Given the description of an element on the screen output the (x, y) to click on. 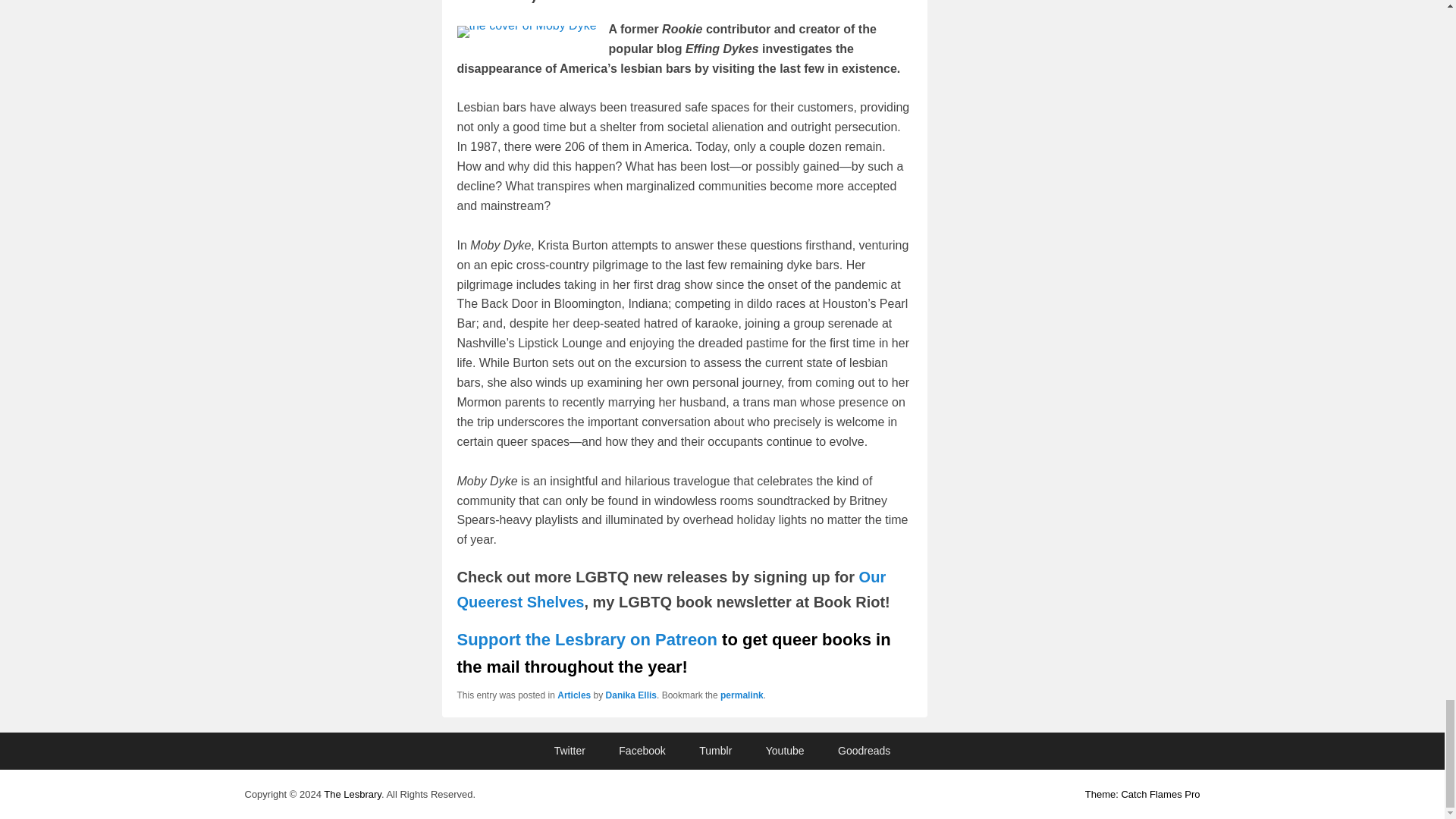
Theme: Catch Flames Pro (1141, 794)
The Lesbrary (352, 794)
